Given the description of an element on the screen output the (x, y) to click on. 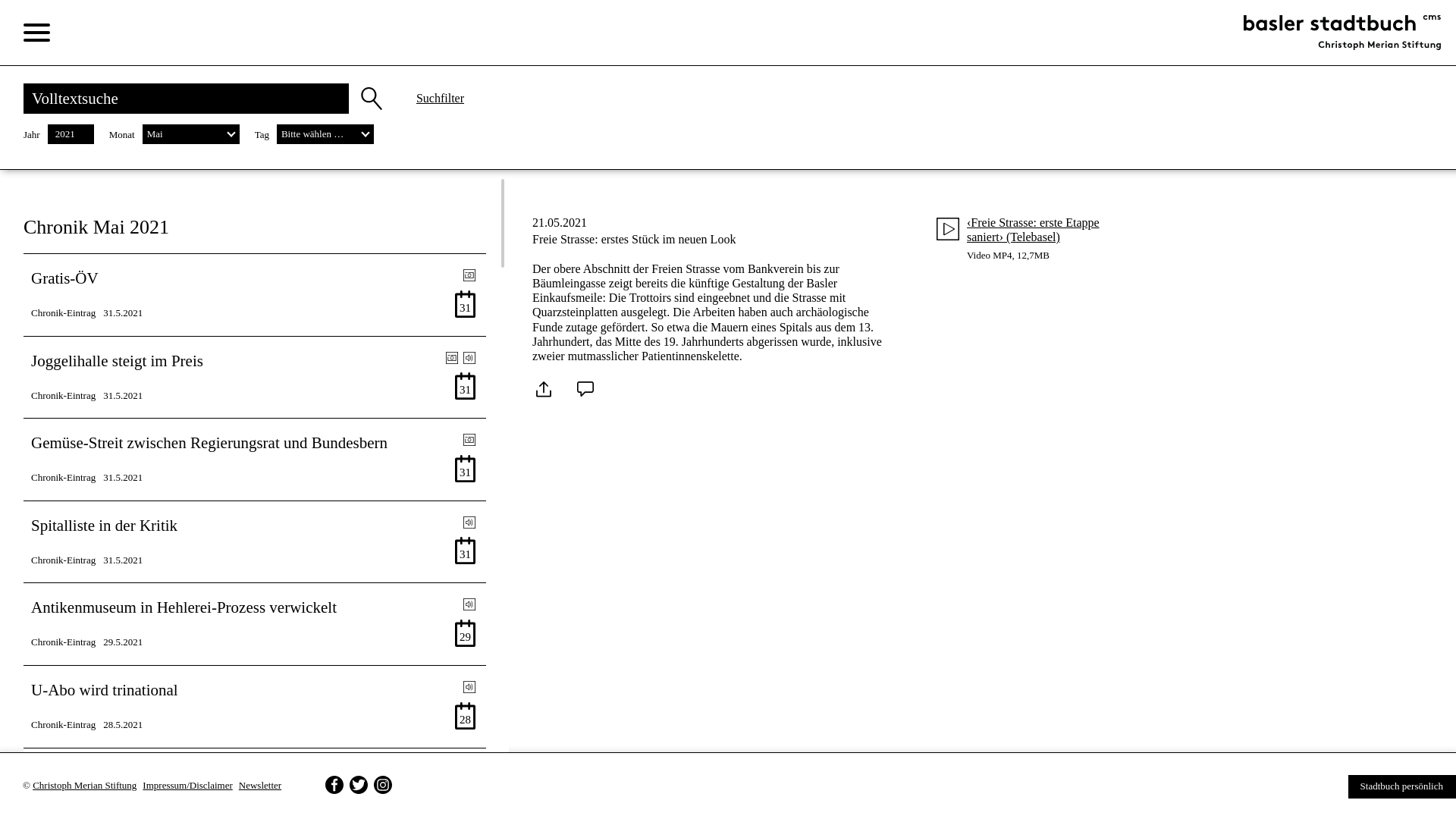
Basler Stadtbuch auf Twitter folgen Element type: hover (358, 784)
Joggelihalle steigt im Preis
Chronik-Eintrag
31.5.2021
31 Element type: text (254, 377)
U-Abo wird trinational
Chronik-Eintrag
28.5.2021
28 Element type: text (254, 706)
Newsletter Element type: text (259, 785)
Impressum/Disclaimer Element type: text (187, 785)
Spitalliste in der Kritik
Chronik-Eintrag
31.5.2021
31 Element type: text (254, 542)
Basler Stadtbuch auf Instagram besuchen Element type: hover (382, 784)
Basler Stadtbuch auf Facebook besuchen Element type: hover (334, 784)
Christoph Merian Stiftung Element type: text (84, 784)
